Given the description of an element on the screen output the (x, y) to click on. 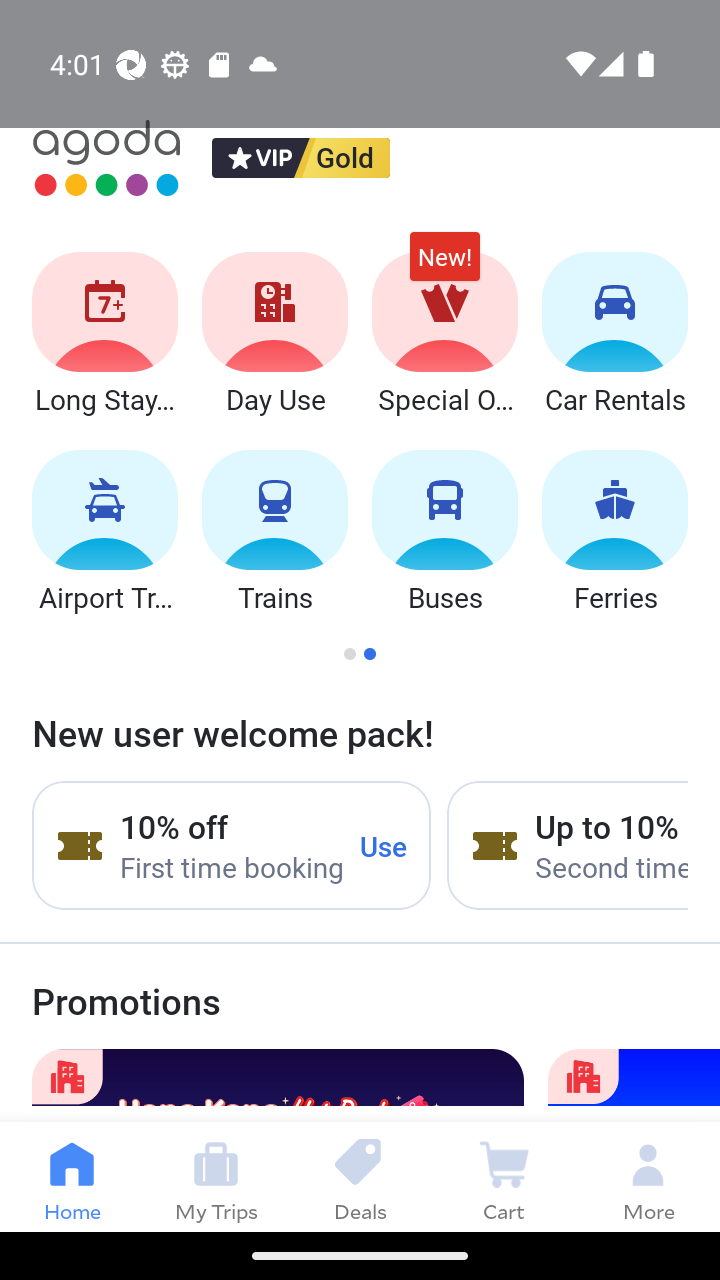
New! (444, 265)
Use (384, 845)
Home (72, 1176)
My Trips (216, 1176)
Deals (360, 1176)
Cart (504, 1176)
More (648, 1176)
